Given the description of an element on the screen output the (x, y) to click on. 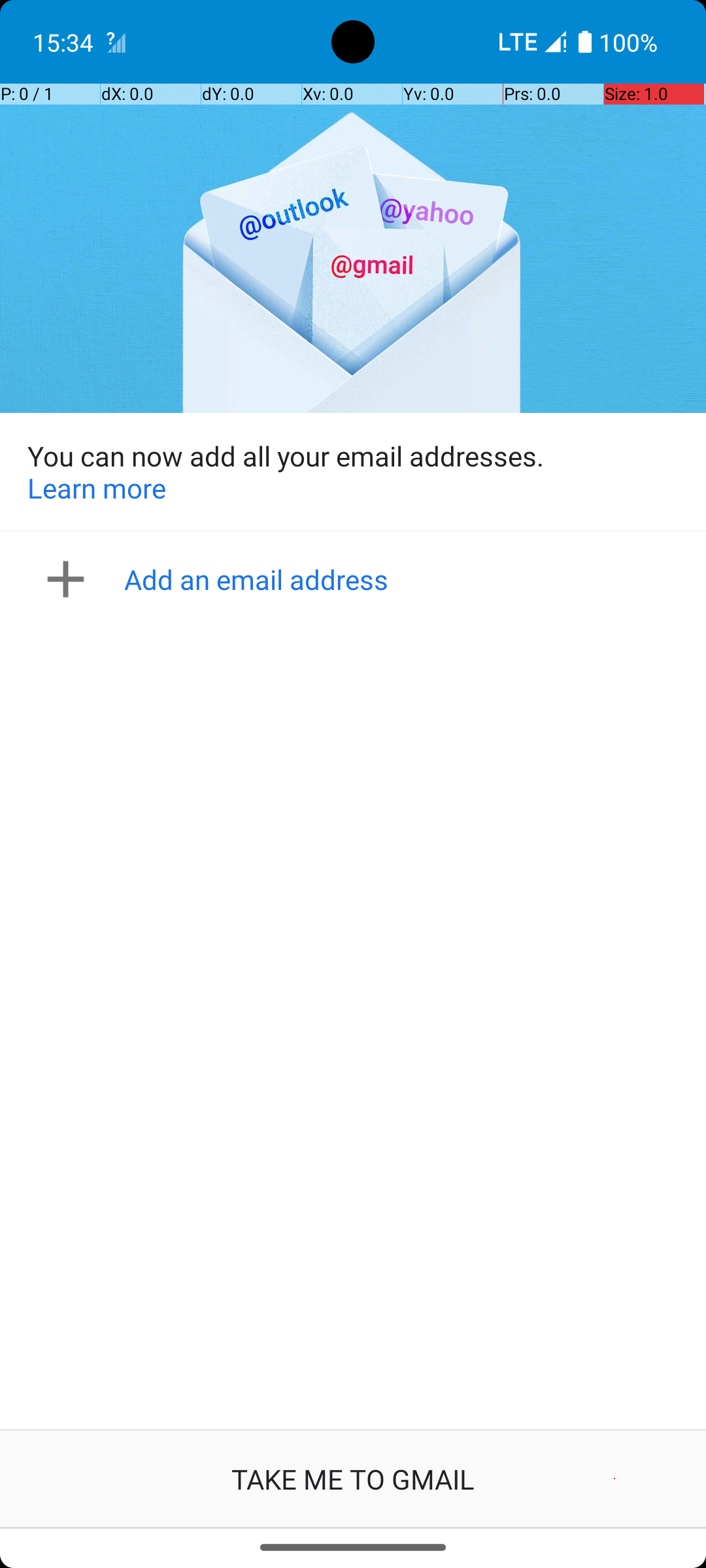
You can now add all your email addresses. Learn more Element type: android.widget.TextView (352, 471)
TAKE ME TO GMAIL Element type: android.widget.TextView (353, 1478)
Add an email address Element type: android.widget.TextView (356, 579)
